Given the description of an element on the screen output the (x, y) to click on. 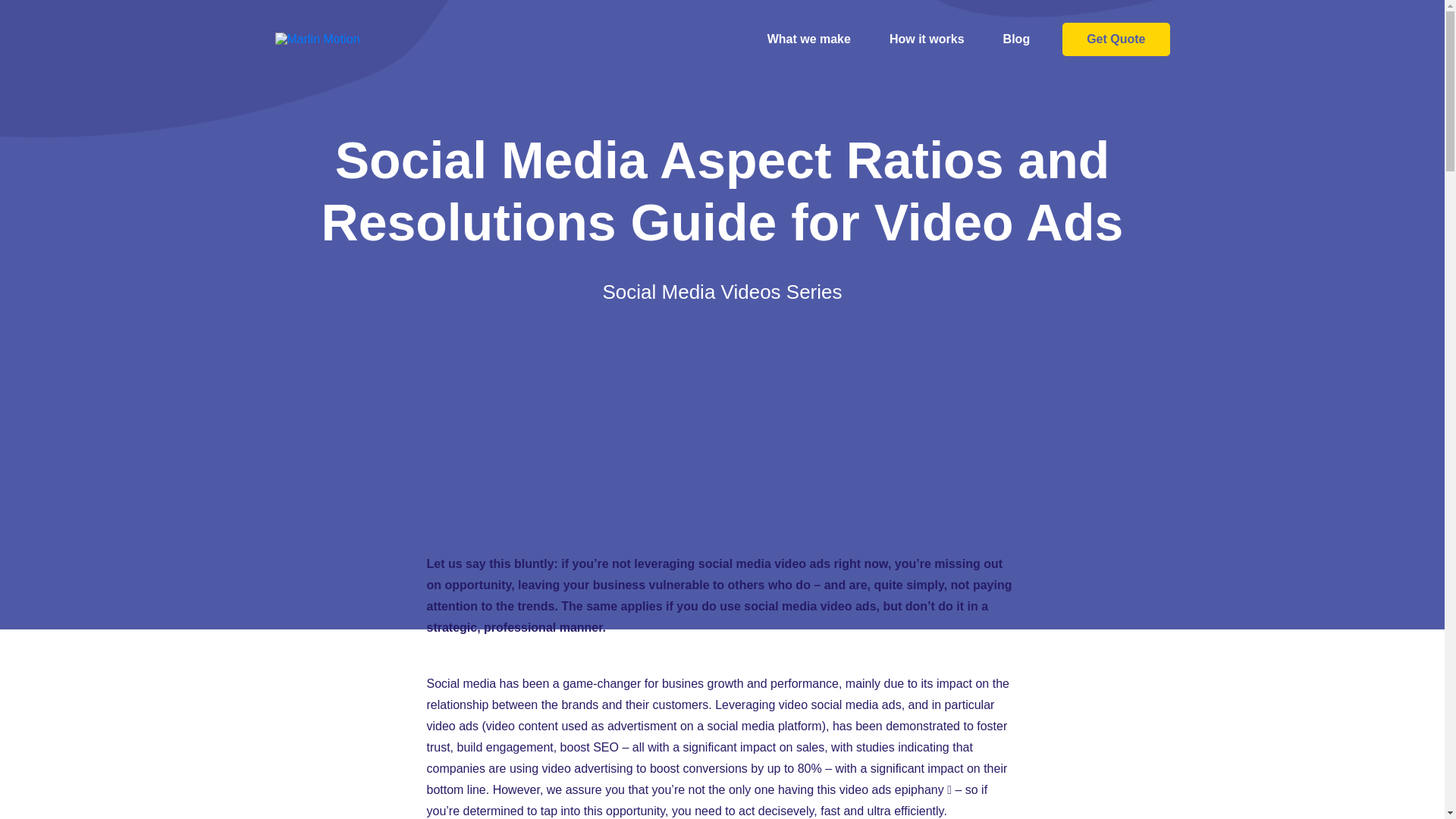
What we make (809, 39)
Get Quote (1115, 39)
Blog (1016, 39)
How it works (927, 39)
